Given the description of an element on the screen output the (x, y) to click on. 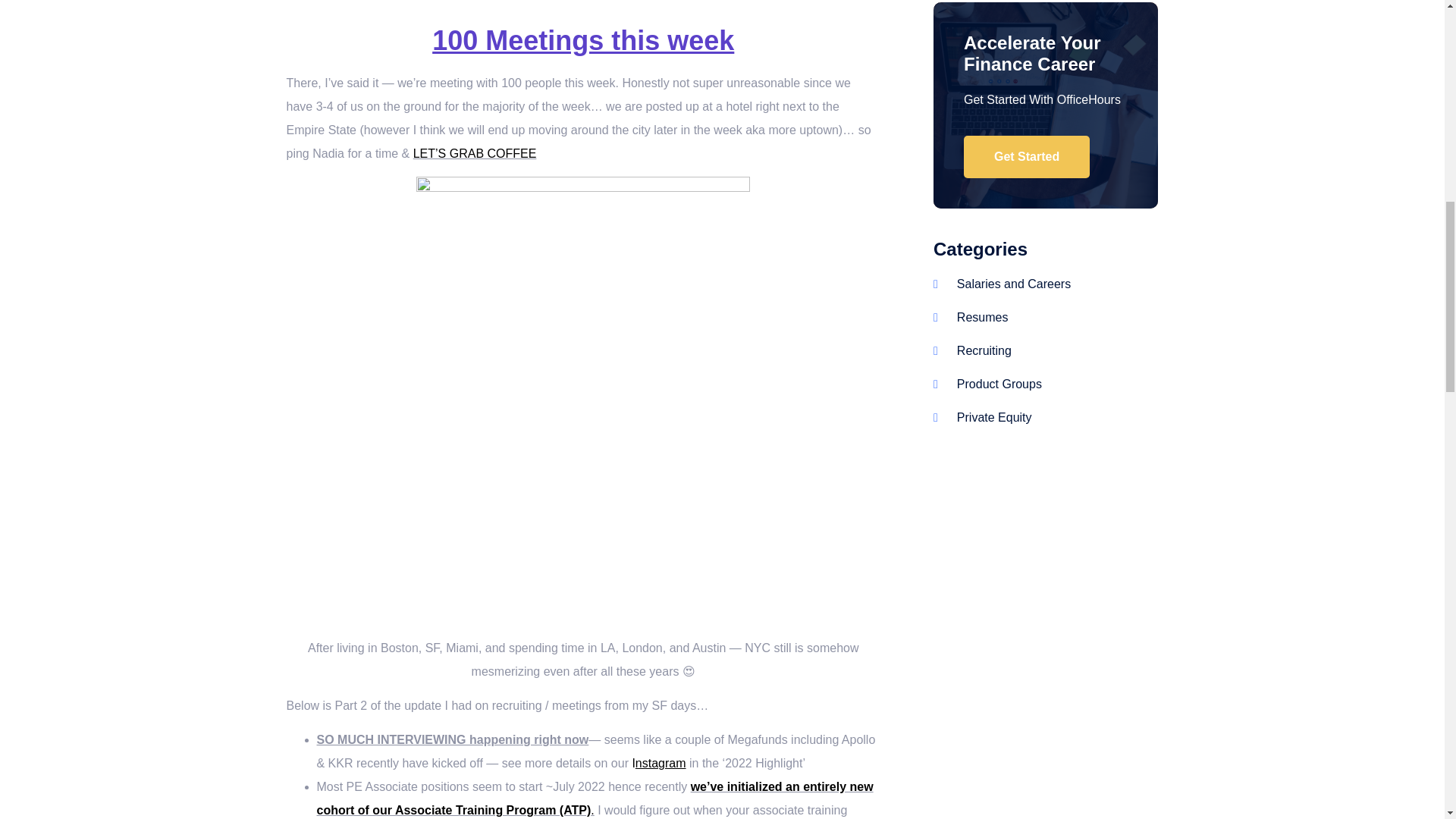
Get Started (1026, 156)
Instagram (658, 762)
Salaries and Careers (1001, 284)
